Given the description of an element on the screen output the (x, y) to click on. 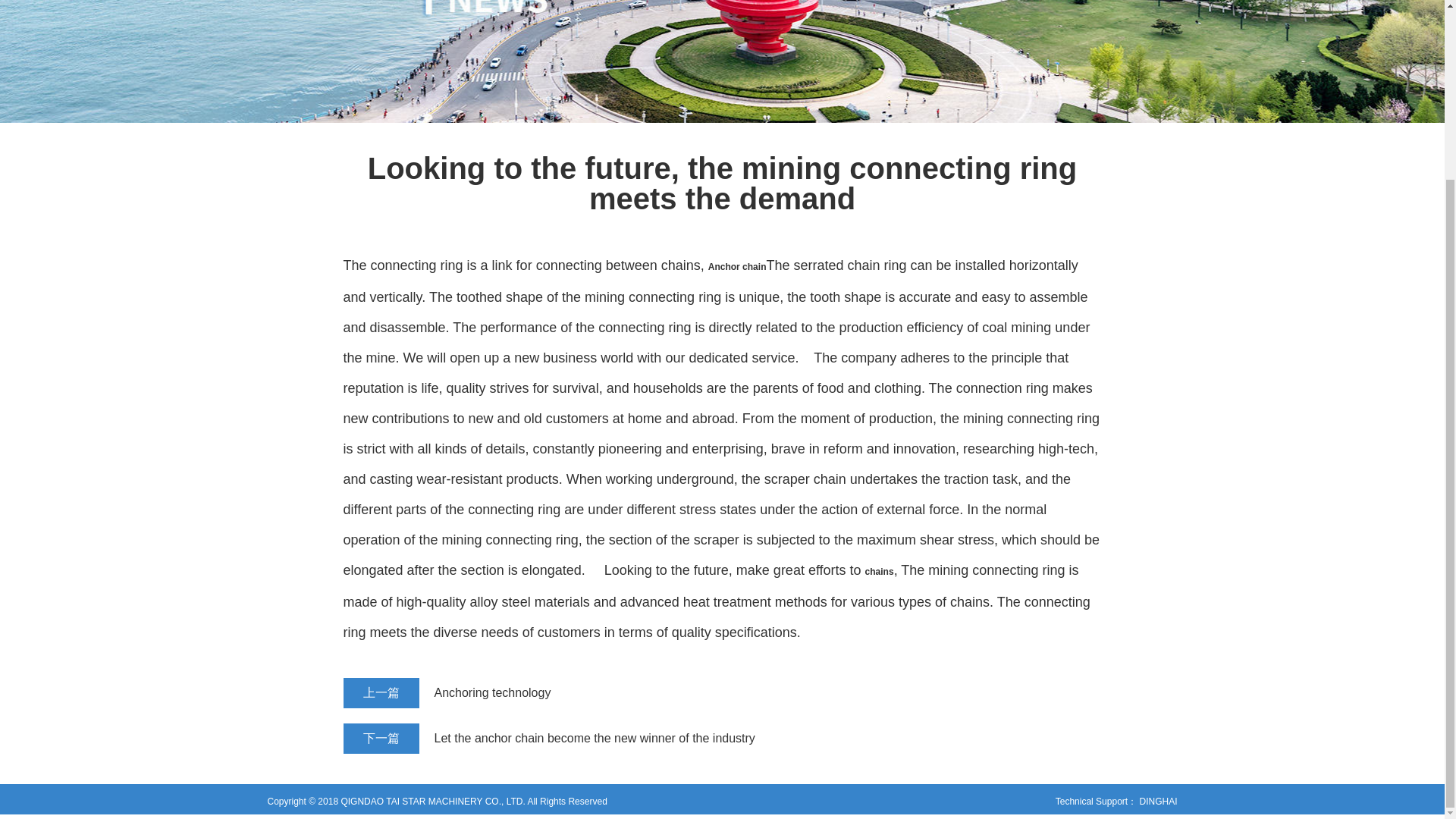
Anchoring technology (683, 693)
Let the anchor chain become the new winner of the industry (683, 738)
chains (878, 571)
Anchor chain (737, 266)
DINGHAI (1157, 801)
